Given the description of an element on the screen output the (x, y) to click on. 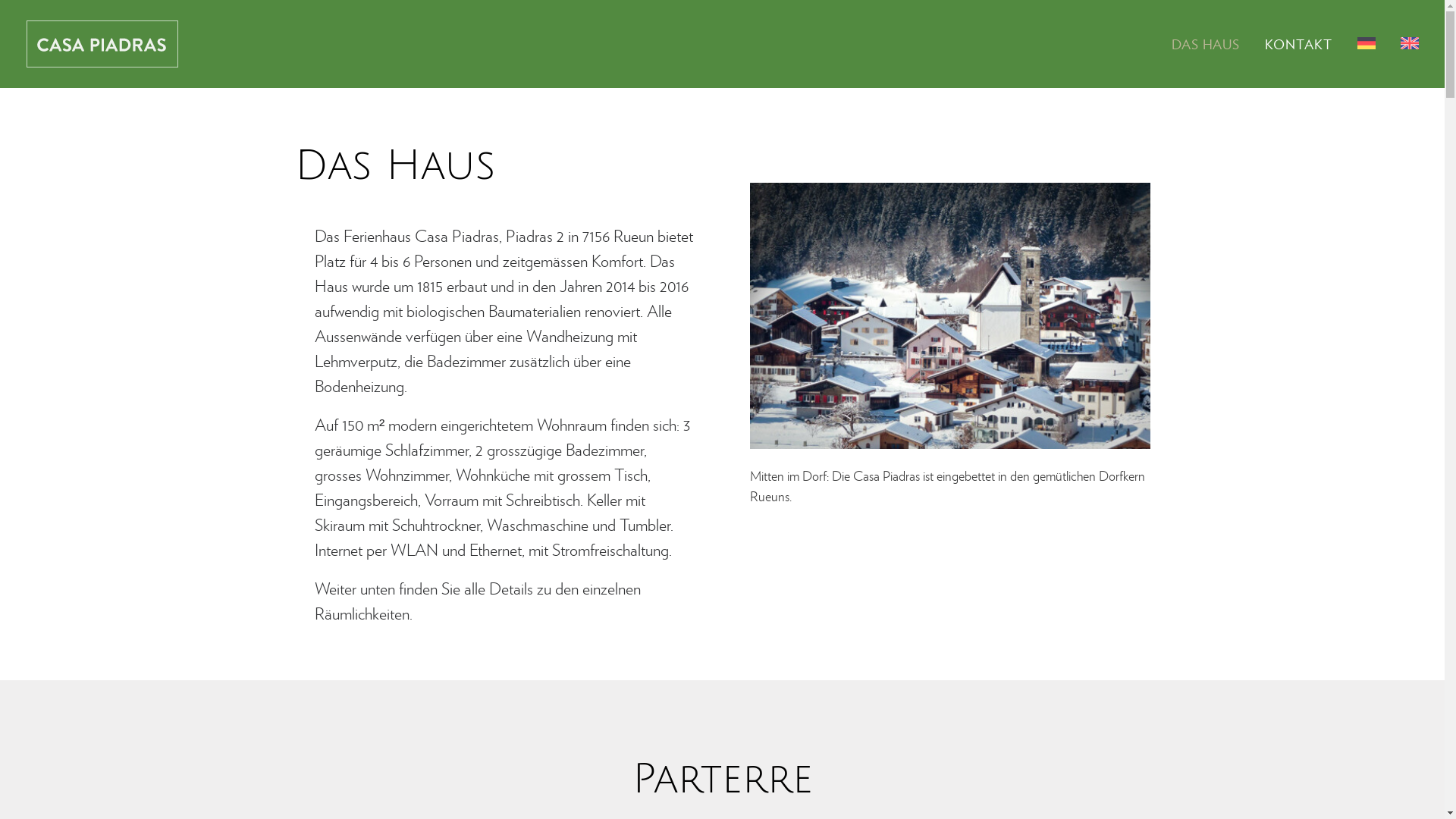
<img src="/wp-content/polylang/de_DE.png" alt="Deutsch" /> Element type: hover (1366, 43)
DAS HAUS Element type: text (1210, 43)
KONTAKT Element type: text (1298, 43)
<img src="/wp-content/polylang/en_GB.png" alt="English" /> Element type: hover (1403, 43)
